Given the description of an element on the screen output the (x, y) to click on. 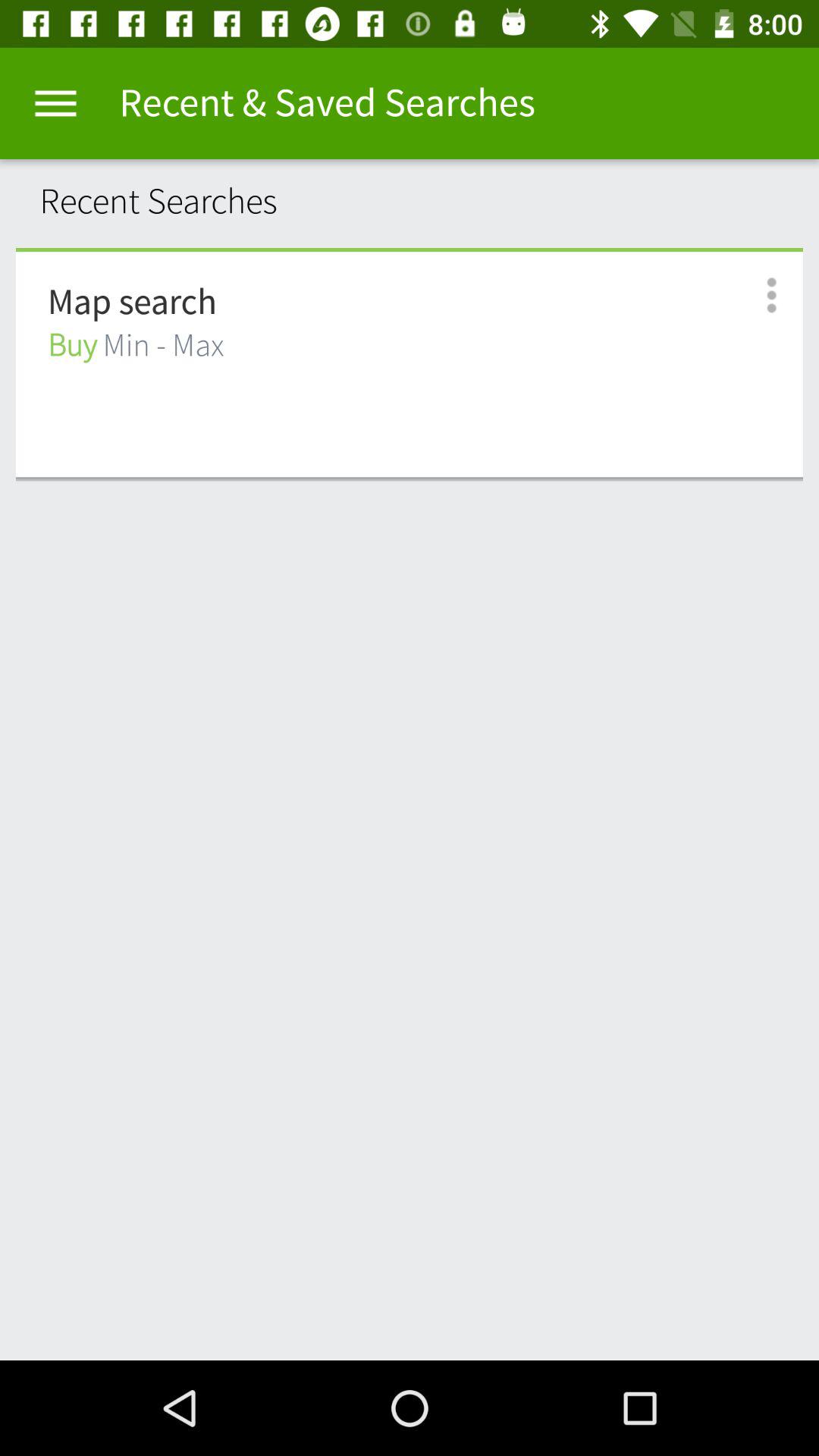
more information (755, 295)
